Given the description of an element on the screen output the (x, y) to click on. 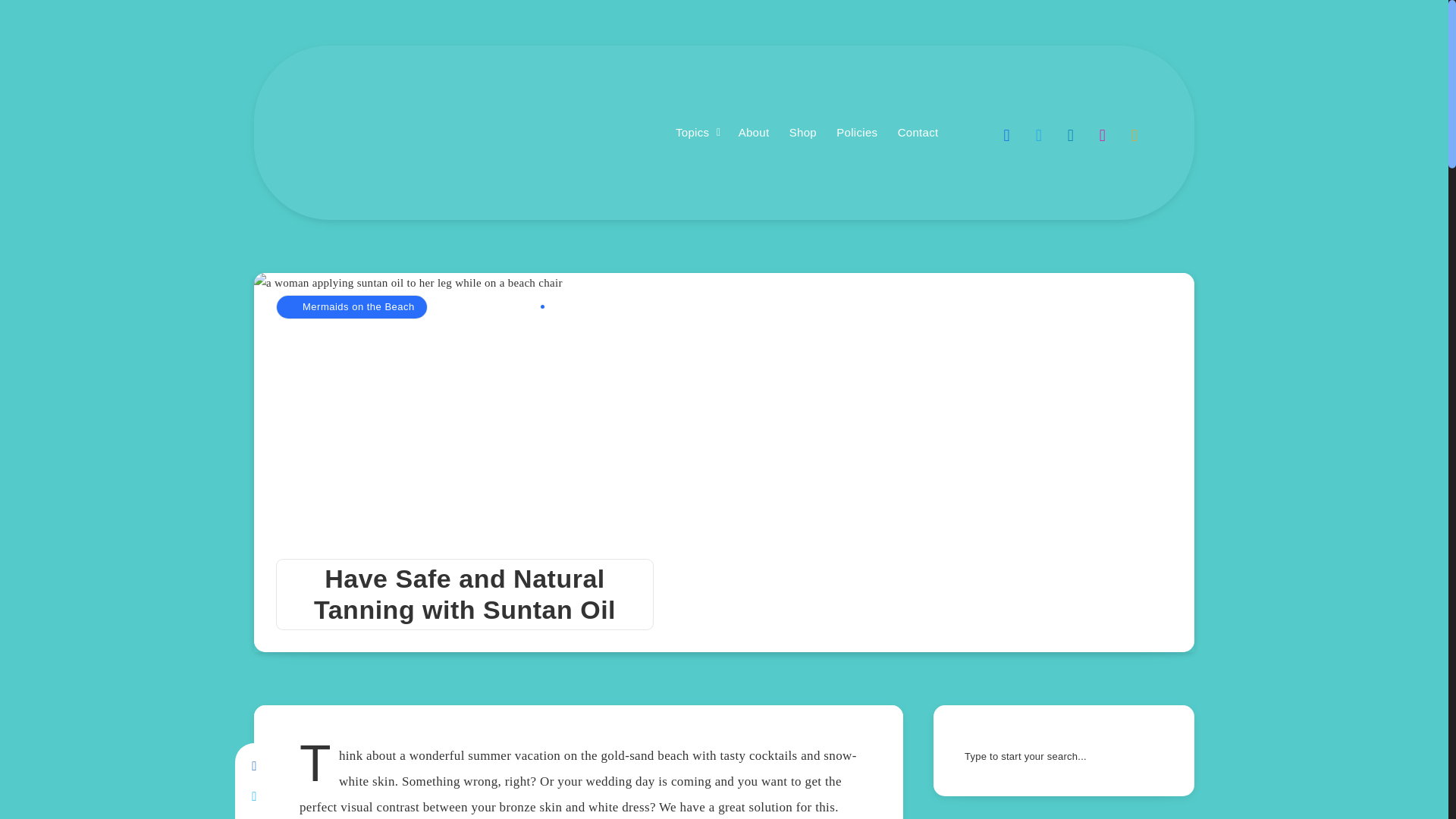
Topics (692, 133)
Share on Facebook (253, 766)
Share on Twitter (253, 797)
Shop (802, 133)
Mermaids on the Beach (351, 306)
Contact (918, 133)
About (754, 133)
Share on Linkedin (253, 815)
Policies (856, 133)
